Given the description of an element on the screen output the (x, y) to click on. 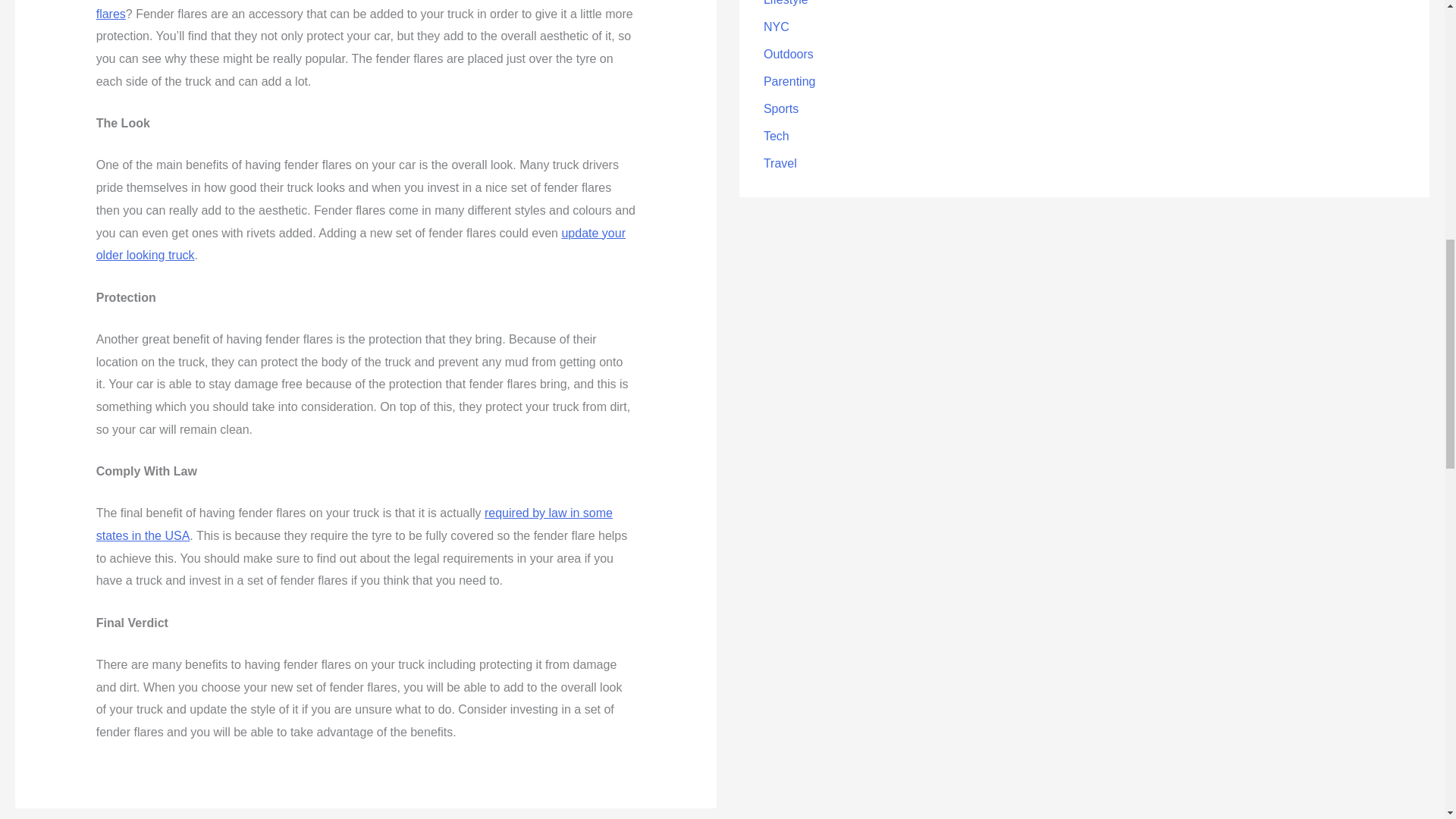
fender flares (354, 10)
update your older looking truck (361, 243)
required by law in some states in the USA (354, 524)
